Given the description of an element on the screen output the (x, y) to click on. 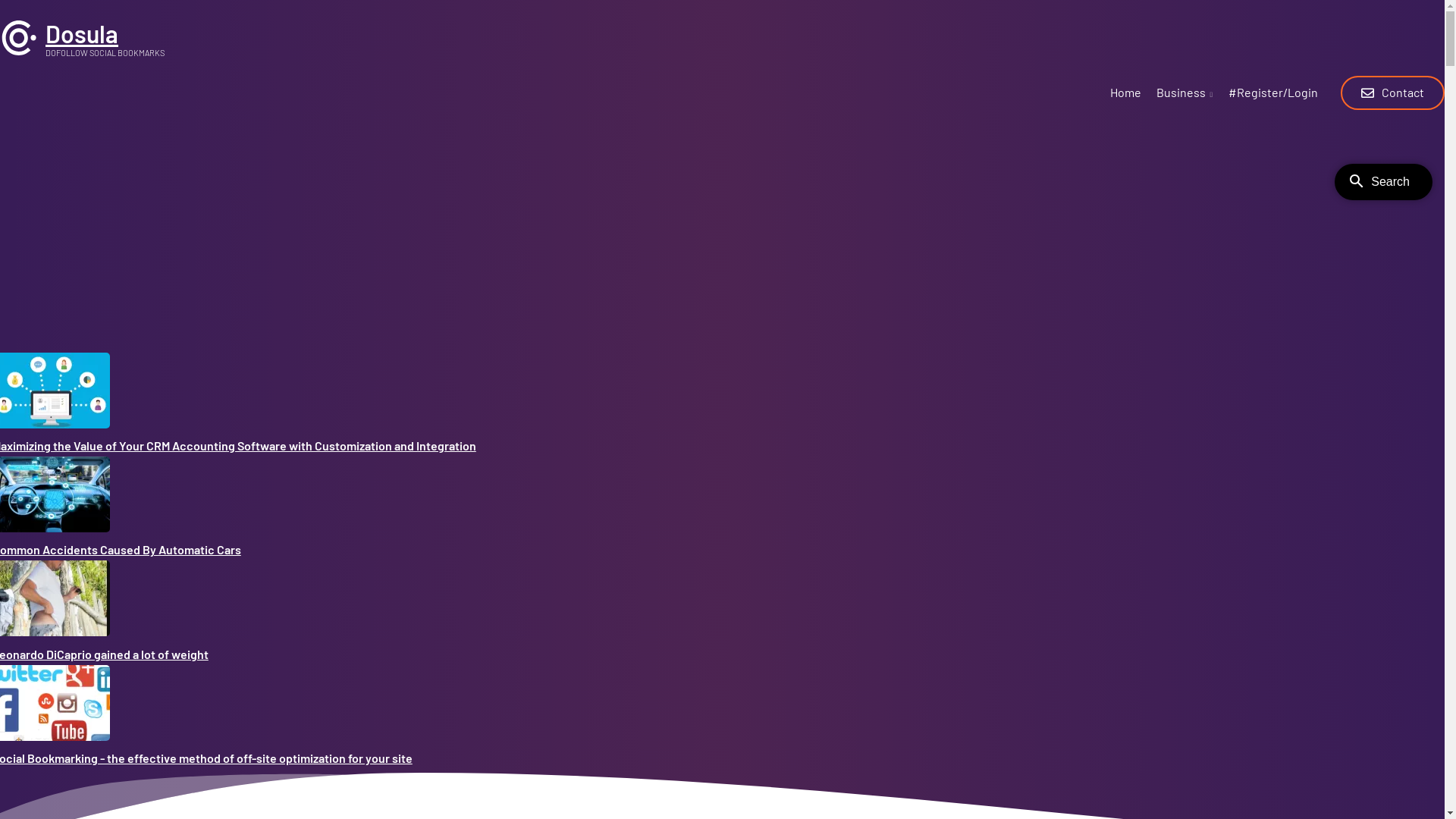
Dosula Element type: text (81, 32)
#Register/Login Element type: text (1272, 96)
Skip to main content Element type: text (0, 0)
Home Element type: hover (18, 51)
Home Element type: text (1125, 96)
Contact Element type: text (1392, 92)
